Given the description of an element on the screen output the (x, y) to click on. 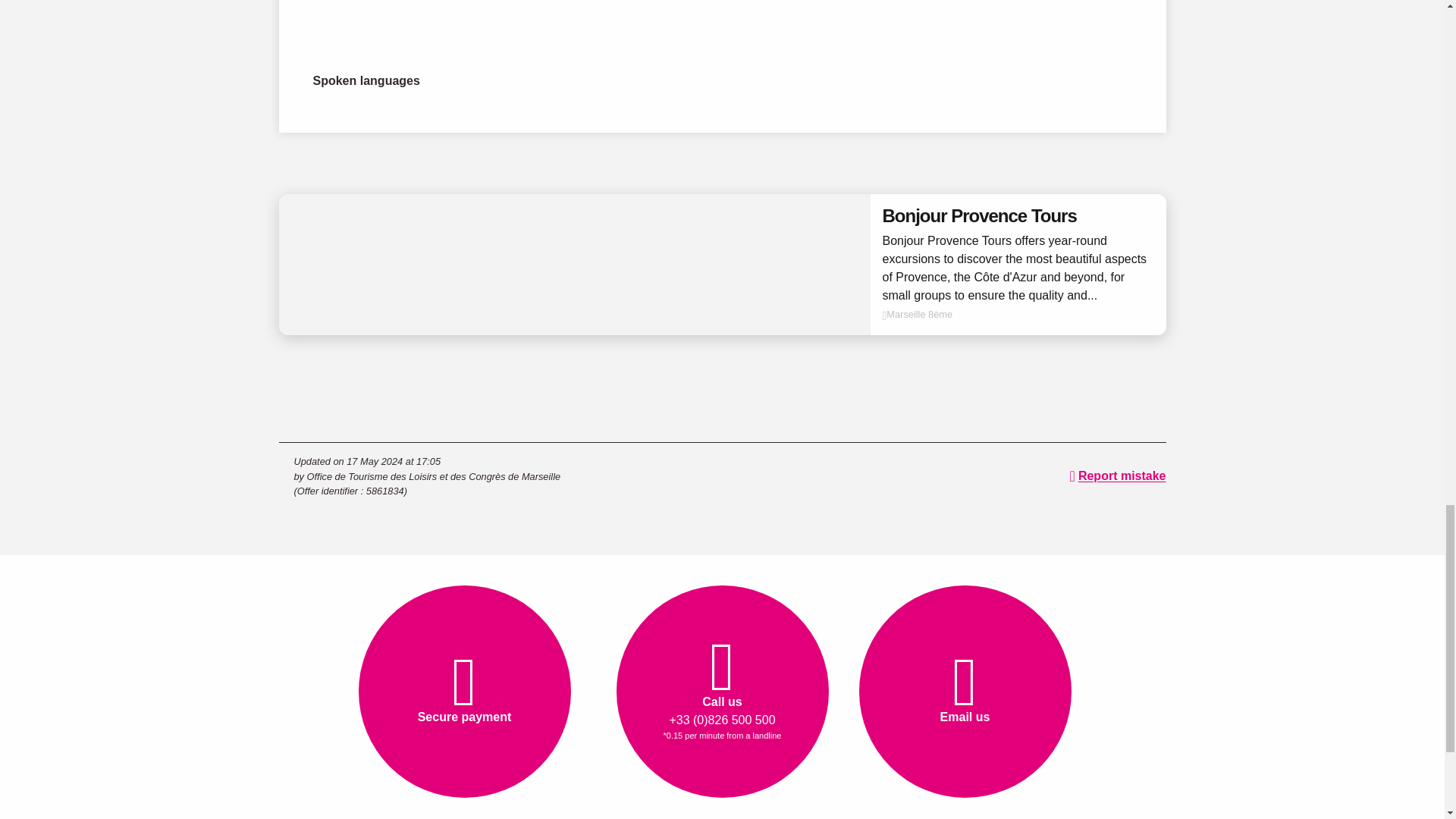
Email us (964, 691)
Report mistake (1118, 476)
